Given the description of an element on the screen output the (x, y) to click on. 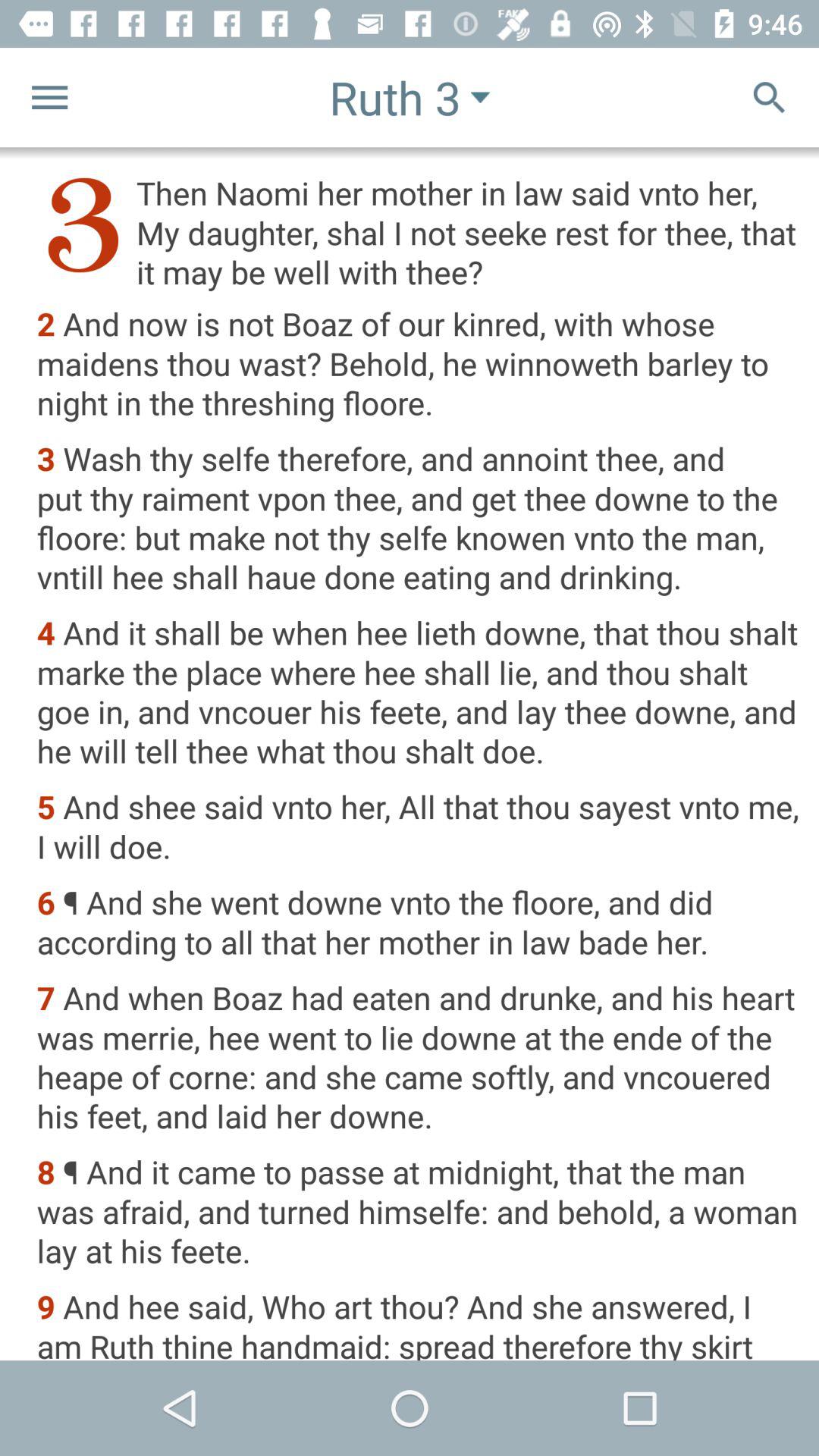
turn off the then naomi her item (417, 232)
